Given the description of an element on the screen output the (x, y) to click on. 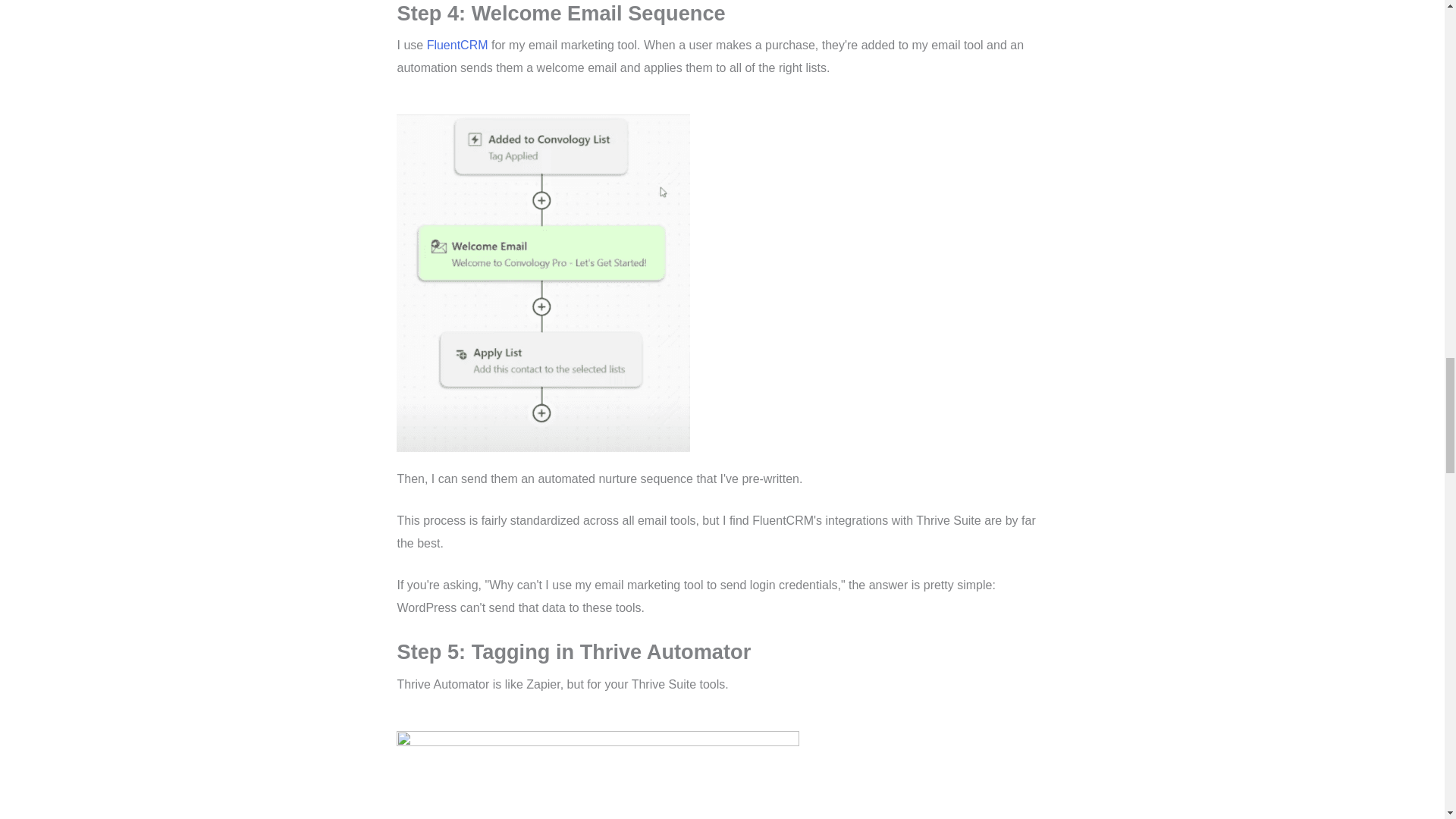
FluentCRM (456, 44)
thrive automator tag users in autoresponder (596, 775)
